Given the description of an element on the screen output the (x, y) to click on. 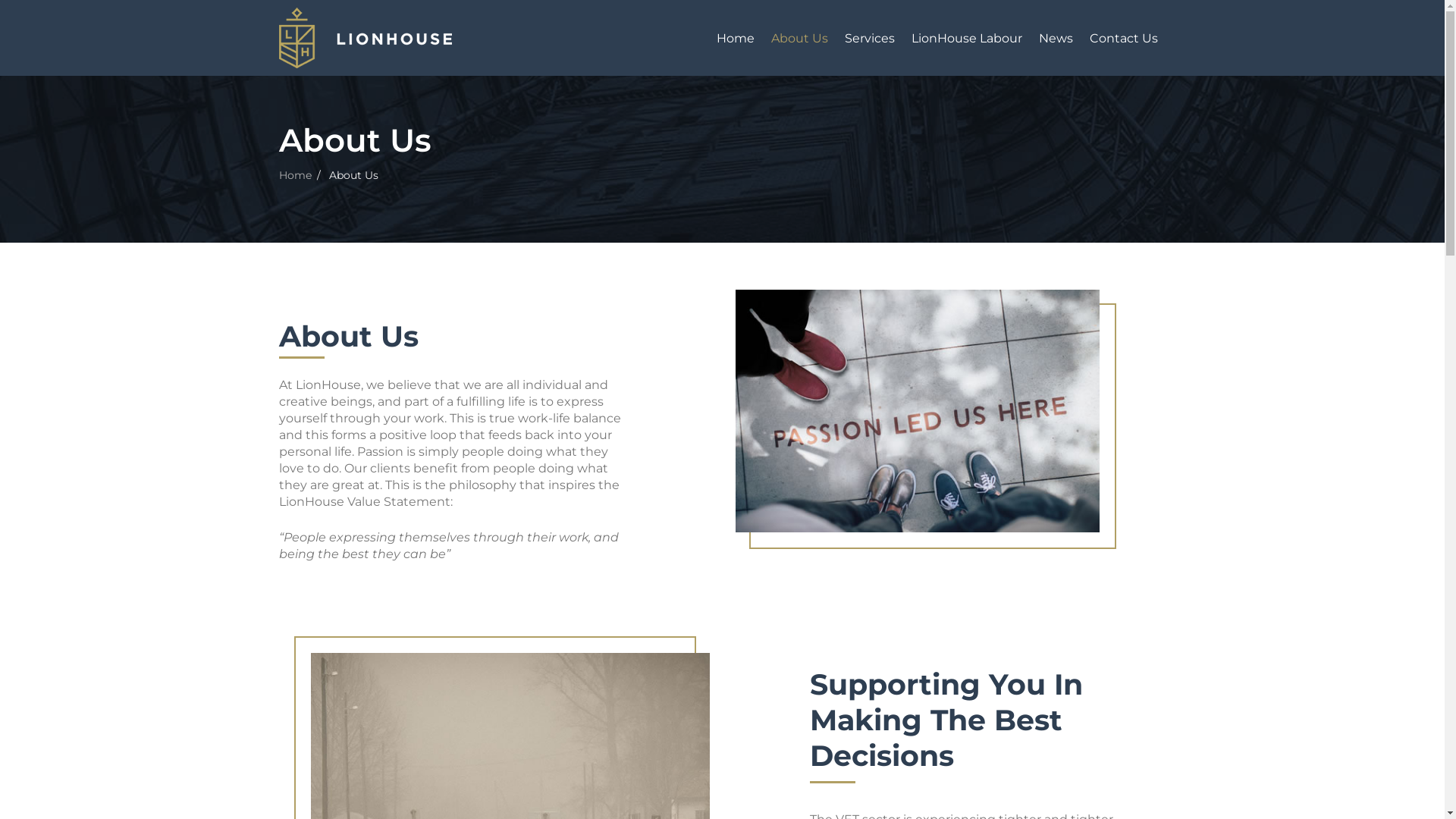
About Us Element type: text (799, 38)
Contact Us Element type: text (1123, 38)
Services Element type: text (868, 38)
LionHouse Labour Element type: text (965, 38)
News Element type: text (1054, 38)
Home Element type: text (735, 38)
Home Element type: text (295, 175)
